Given the description of an element on the screen output the (x, y) to click on. 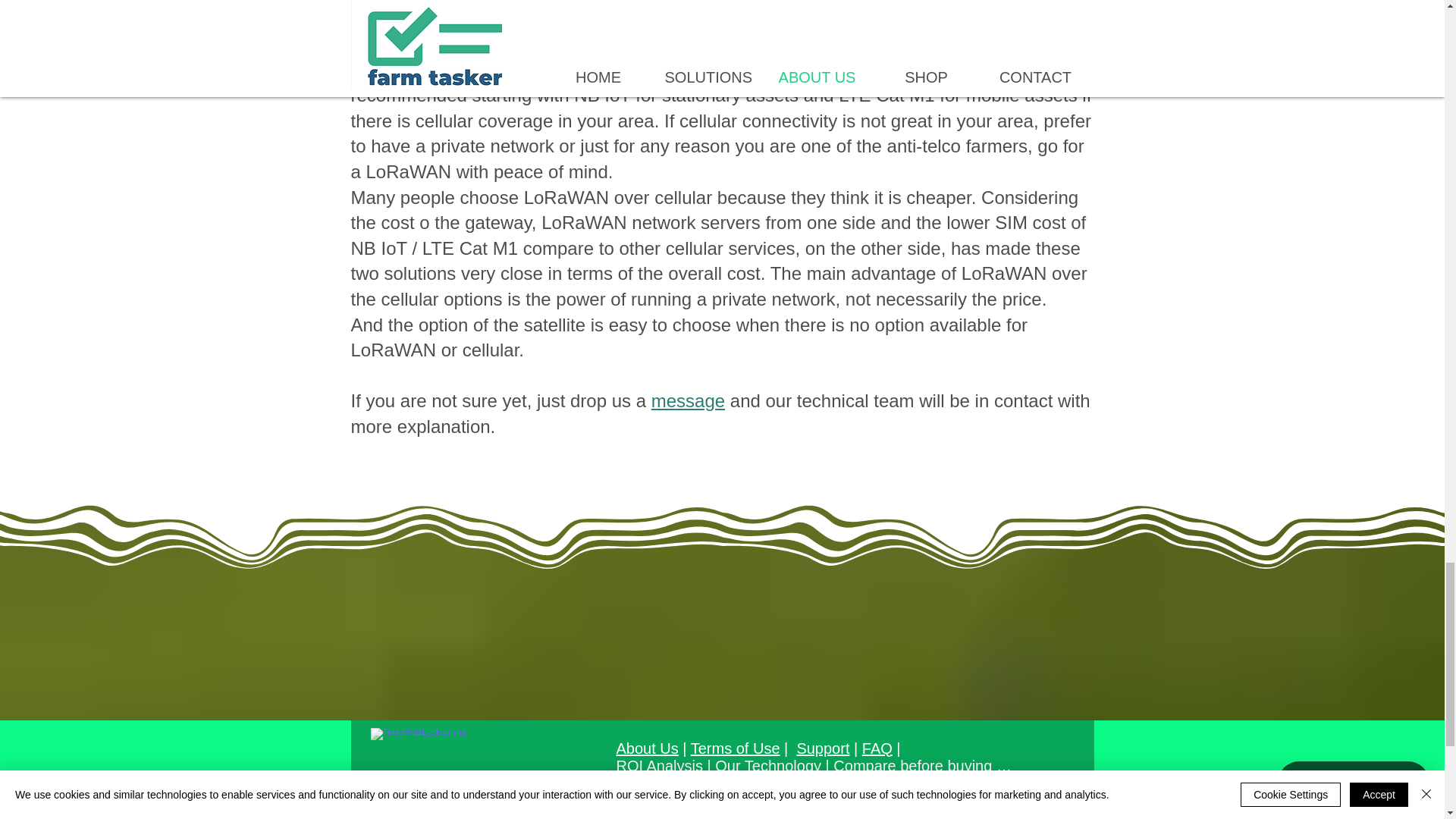
Our Technology (767, 765)
FAQ (876, 748)
Support (822, 748)
Platform Features (675, 782)
About Us (646, 748)
ROI Analysis (658, 765)
Platform Login (798, 782)
Terms of Use (735, 748)
message (687, 400)
Contact Us (652, 800)
